Given the description of an element on the screen output the (x, y) to click on. 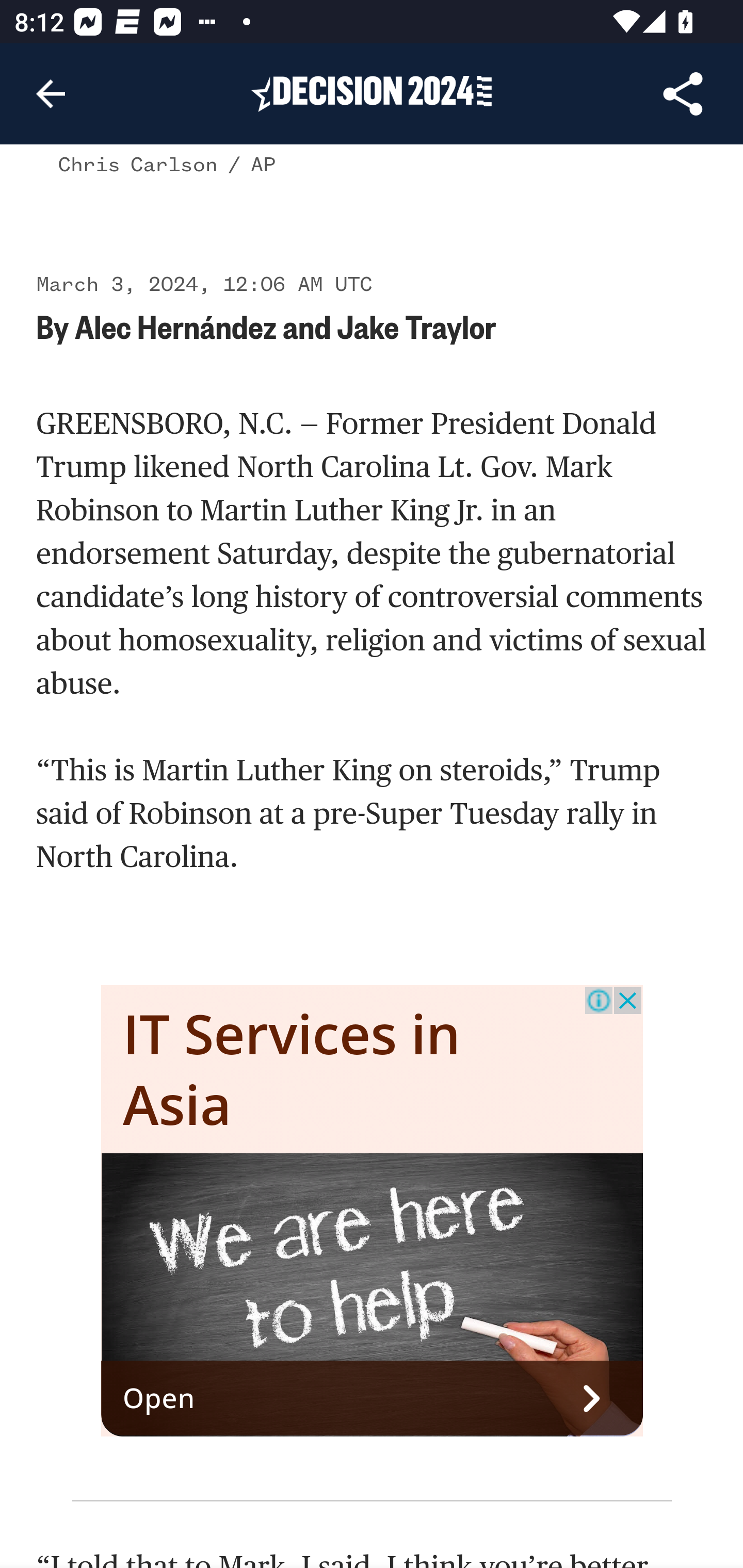
Navigate up (50, 93)
Share Article, button (683, 94)
Header, Decision 2024 (371, 93)
IT Services in Asia IT Services in Asia (292, 1068)
Open (372, 1397)
